Given the description of an element on the screen output the (x, y) to click on. 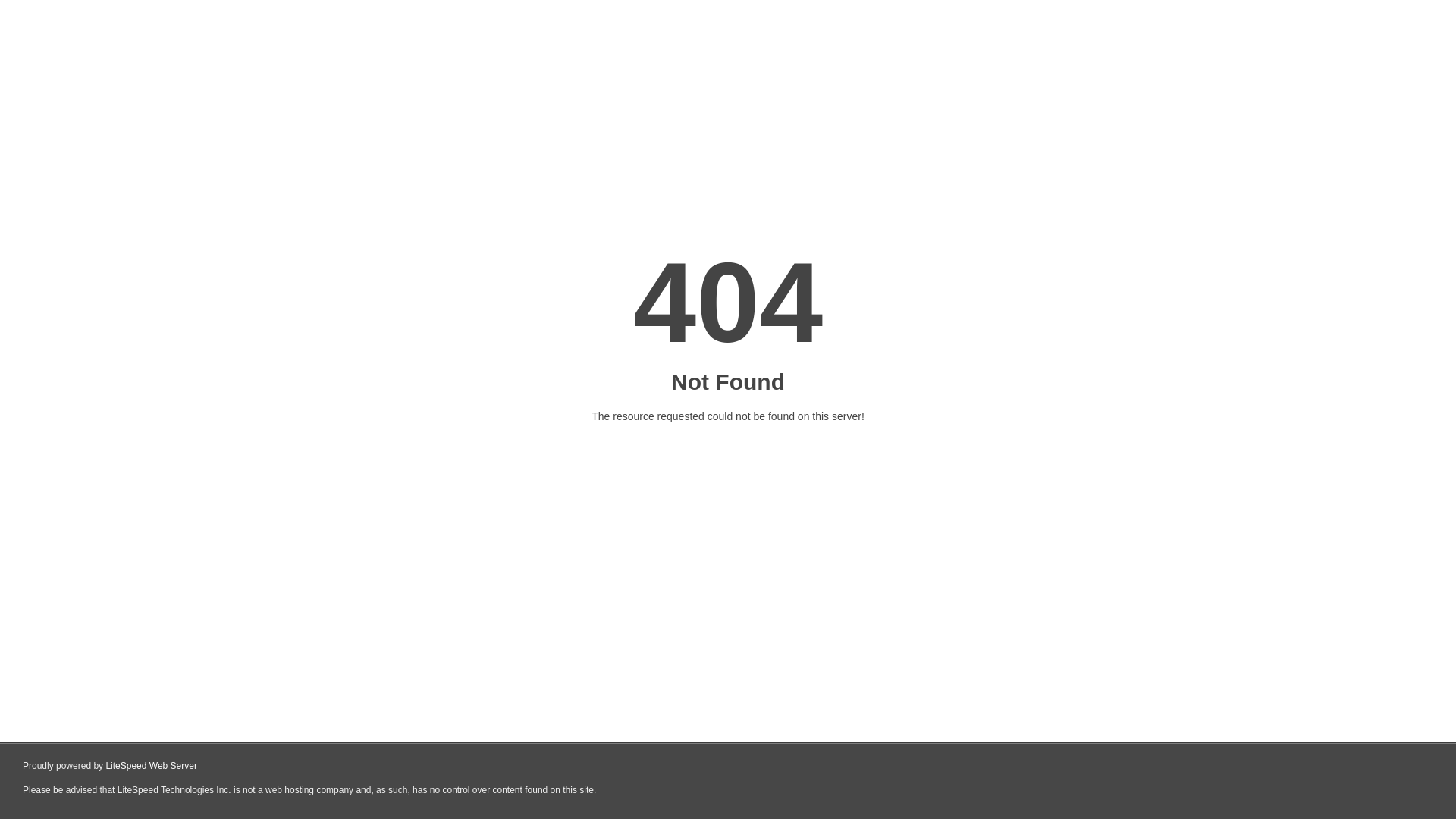
LiteSpeed Web Server Element type: text (151, 765)
